Given the description of an element on the screen output the (x, y) to click on. 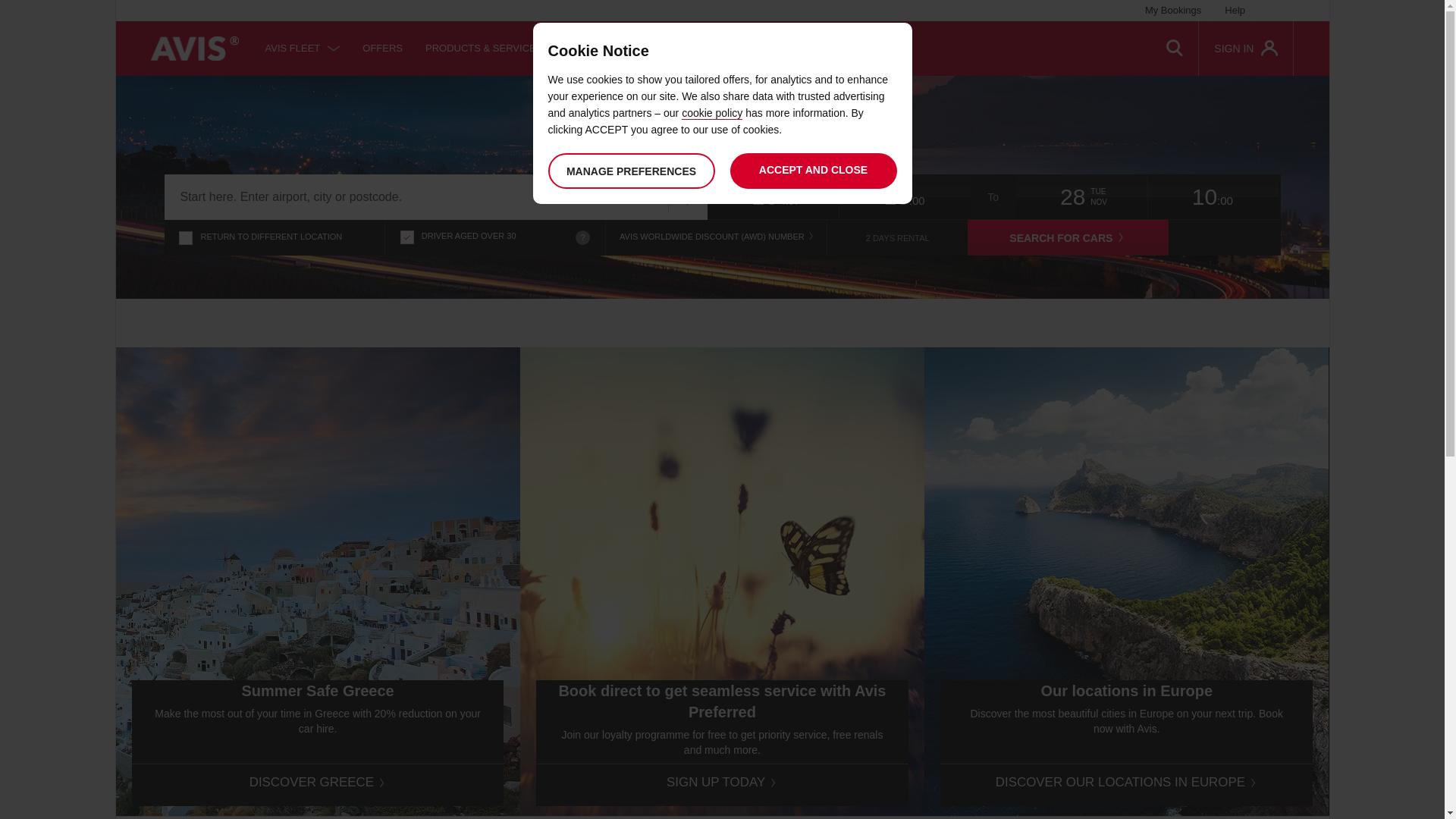
Selected collection time
10
:00
select to change Element type: text (904, 197)
DISCOVER OUR LOCATIONS IN EUROPE Element type: text (1126, 783)
SEARCH FOR CARS Element type: text (1067, 237)
Your chosen collection time is
26
SUN
NOV
select to change Element type: text (774, 197)
DISCOVER GREECE Element type: text (317, 783)
Use your location Element type: text (687, 197)
Help Element type: text (1234, 10)
OFFERS Element type: text (382, 48)
BUSINESS Element type: text (619, 48)
AVIS FLEET Element type: text (302, 48)
cookie policy Element type: text (711, 112)
Current
28
TUE
NOV
select to change Element type: text (1082, 197)
QUICKPASS Element type: text (705, 48)
SIGN UP TODAY Element type: text (722, 783)
MANAGE PREFERENCES Element type: text (630, 170)
SIGN IN Element type: text (1245, 48)
ACCEPT AND CLOSE Element type: text (812, 170)
Selected collection time
10
:00
select to change Element type: text (1213, 197)
PRODUCTS & SERVICES Element type: text (493, 48)
My Bookings Element type: text (1172, 10)
